Given the description of an element on the screen output the (x, y) to click on. 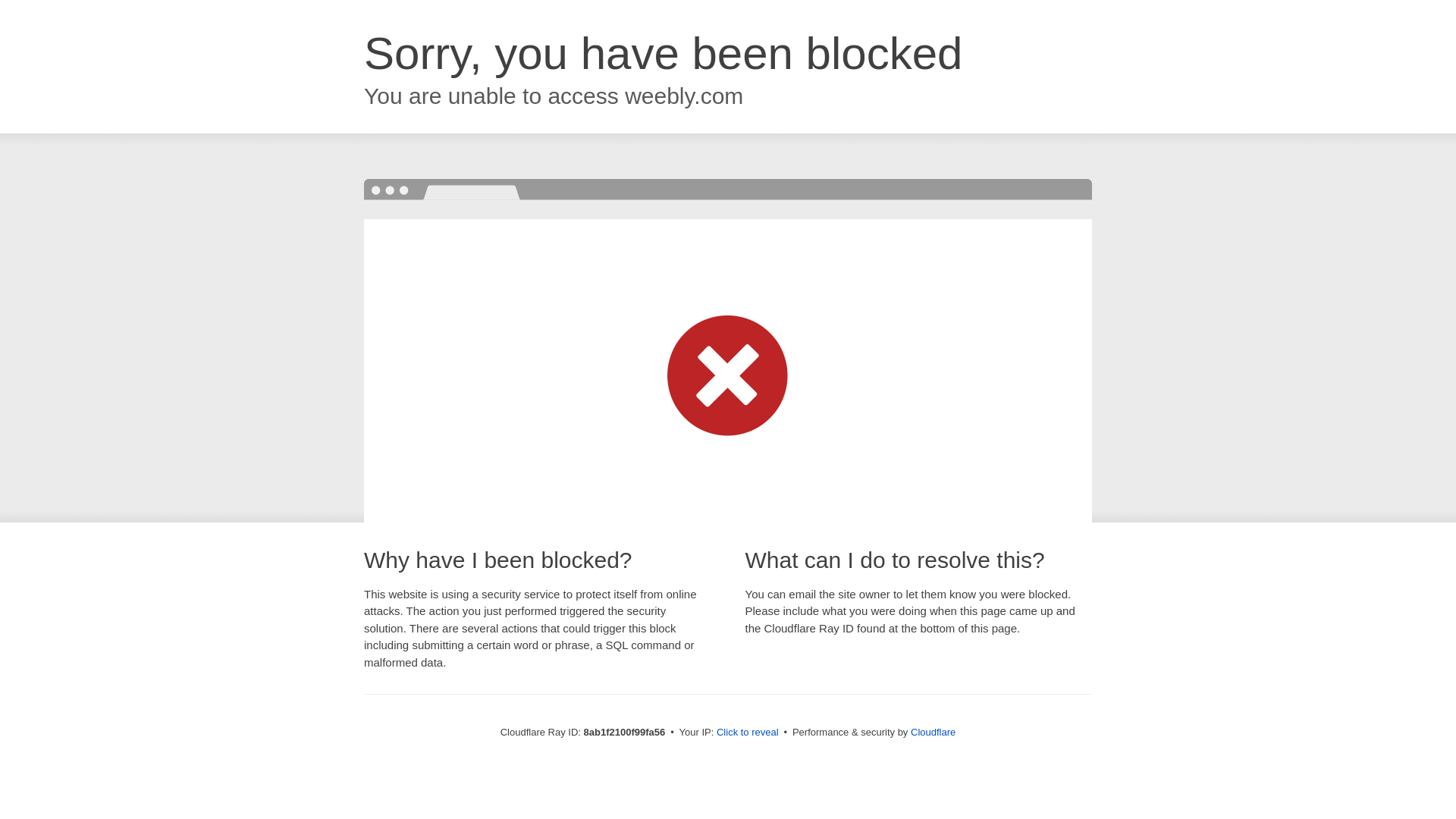
Click to reveal (747, 732)
Cloudflare (933, 731)
